Given the description of an element on the screen output the (x, y) to click on. 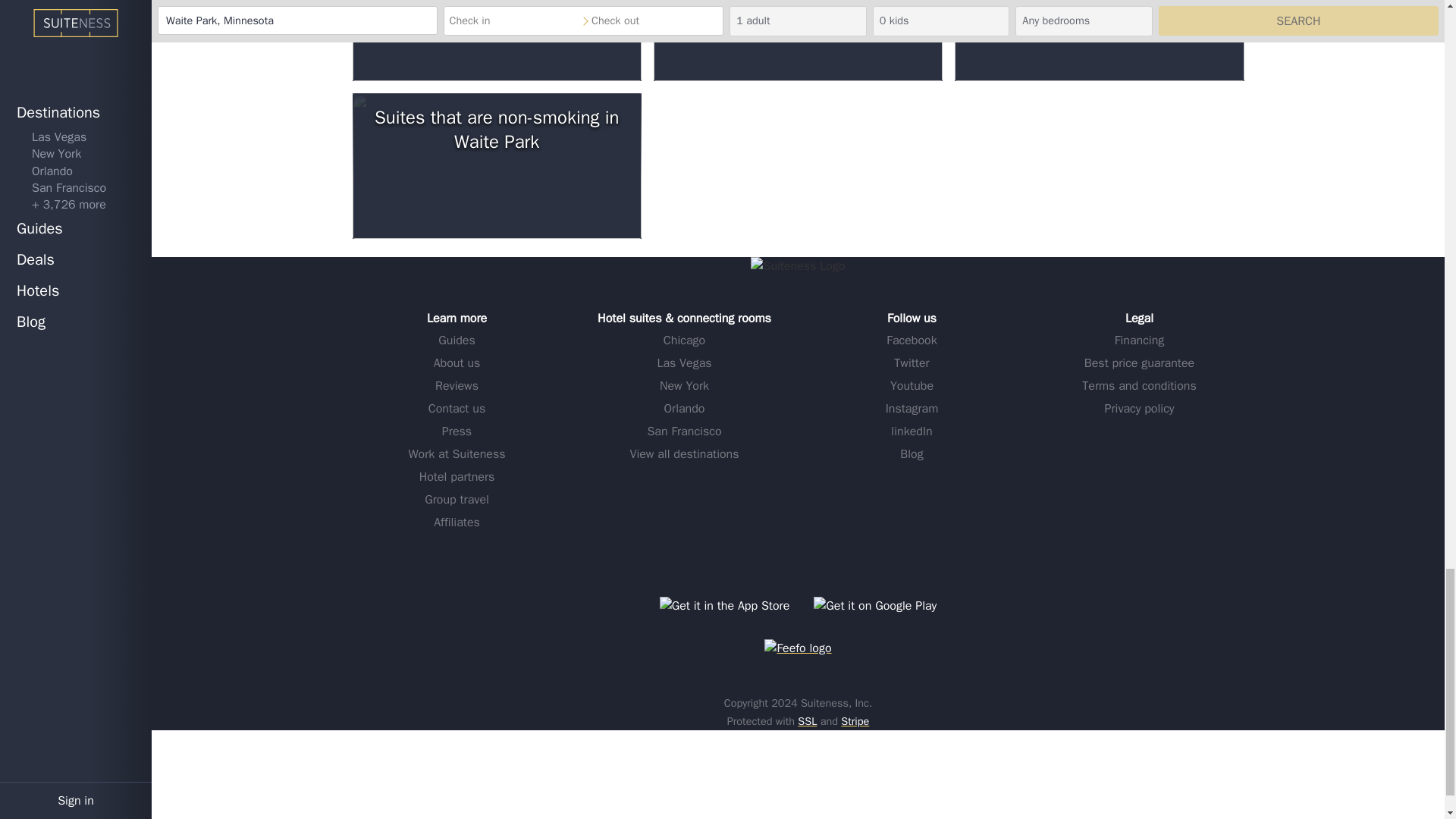
Hotels with connecting rooms and suites in Waite Park (496, 40)
